Given the description of an element on the screen output the (x, y) to click on. 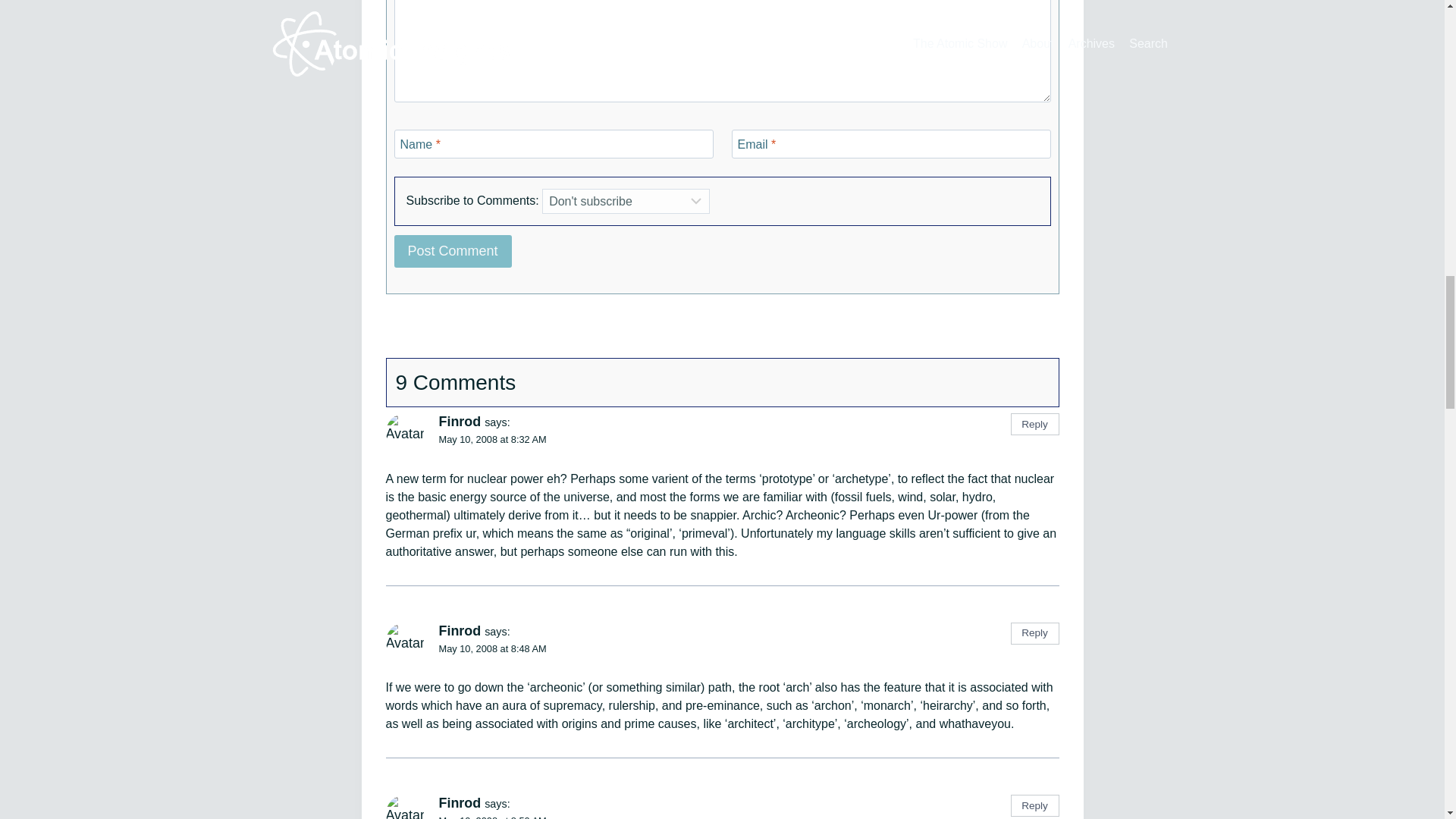
Reply (1034, 805)
Post Comment (453, 251)
Reply (1034, 423)
May 10, 2008 at 8:32 AM (492, 439)
May 10, 2008 at 8:48 AM (492, 648)
May 10, 2008 at 8:50 AM (492, 816)
Reply (1034, 633)
Post Comment (453, 251)
